Given the description of an element on the screen output the (x, y) to click on. 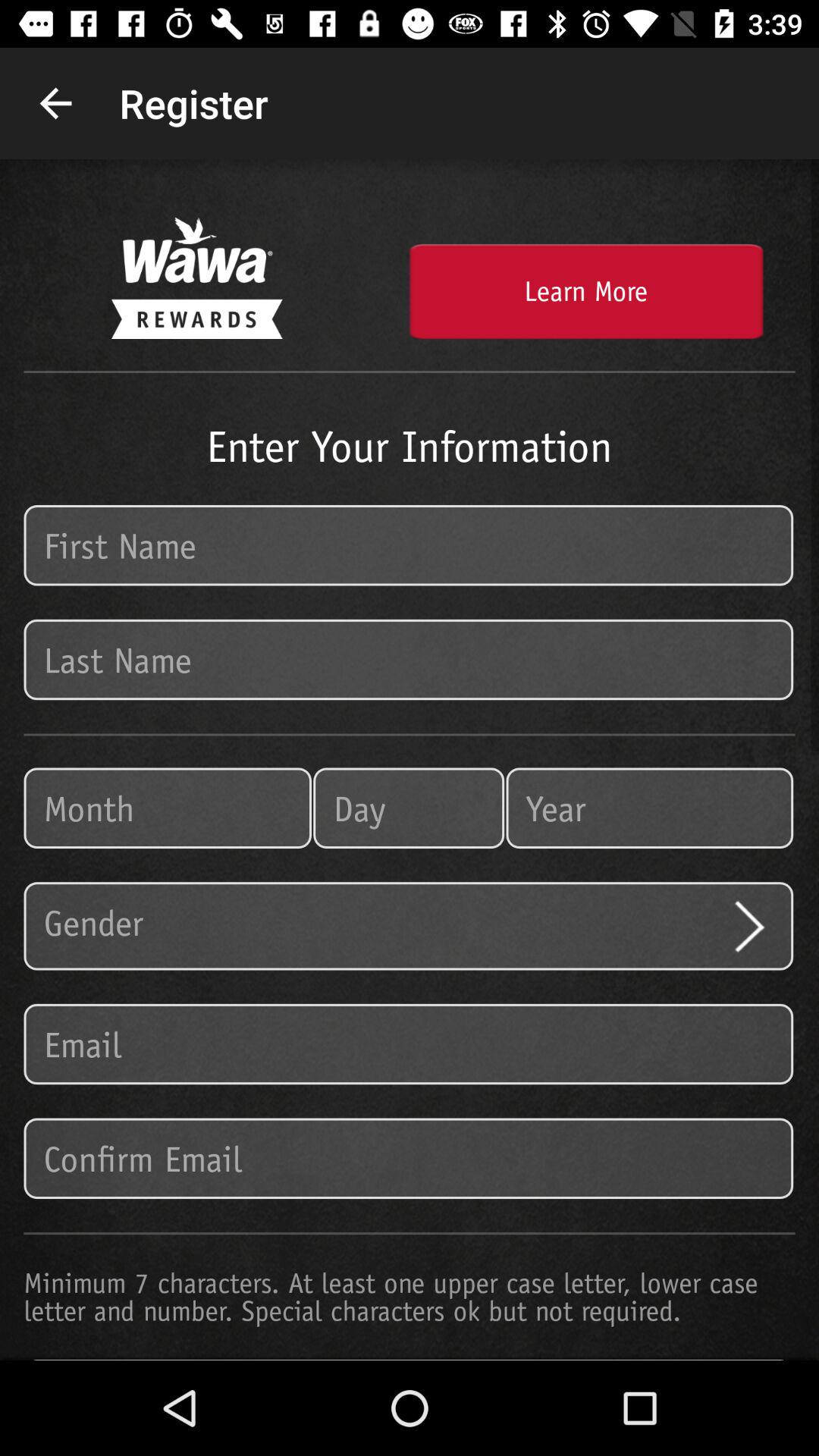
turn on icon next to the register item (55, 103)
